Given the description of an element on the screen output the (x, y) to click on. 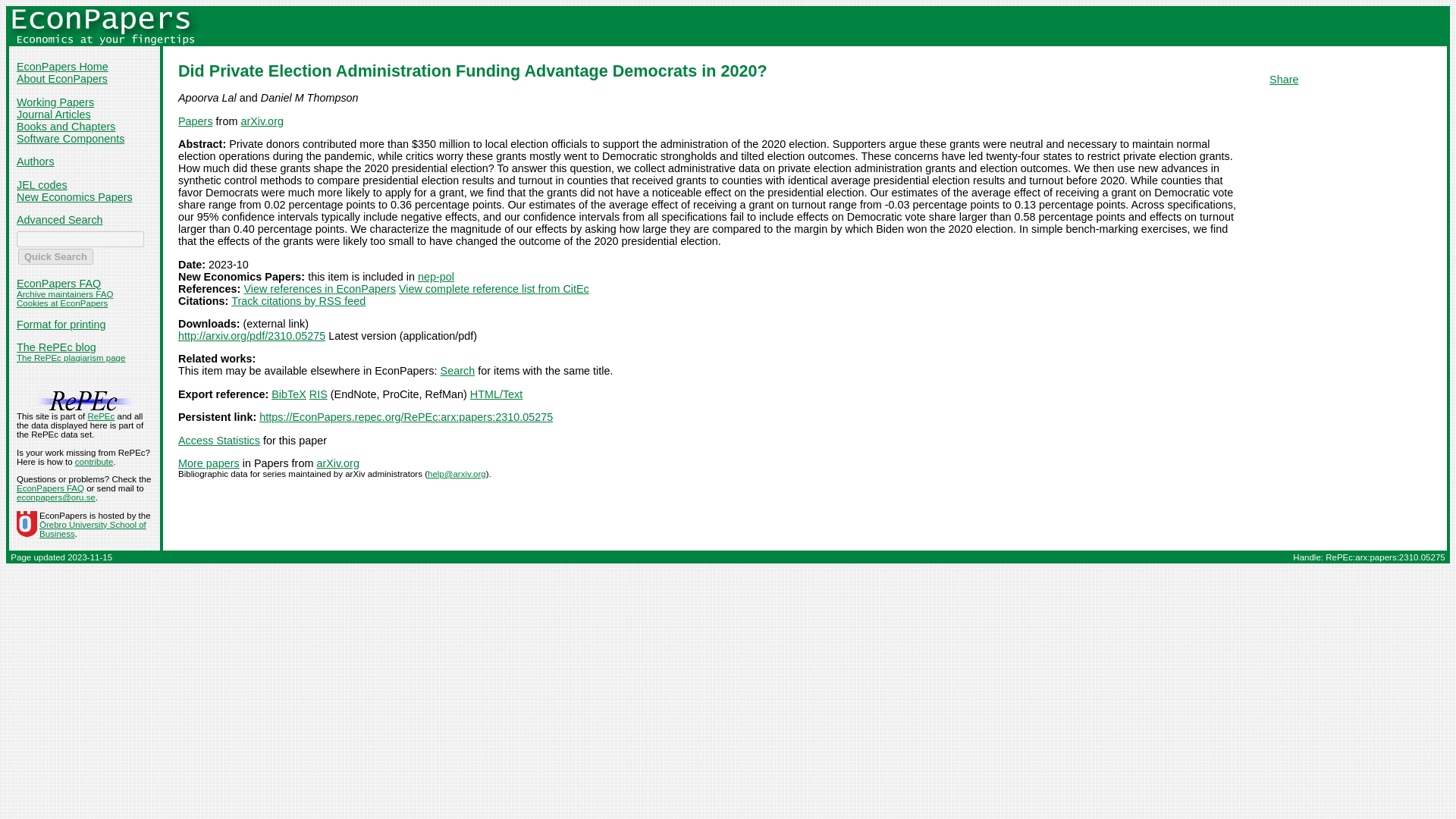
New Economics Papers (74, 196)
View references in EconPapers (319, 288)
EconPapers FAQ (50, 488)
Quick Search (55, 256)
EconPapers Home (61, 66)
About EconPapers (61, 78)
Papers (194, 121)
Archive maintainers FAQ (64, 293)
More papers (208, 463)
RePEc (101, 415)
The RePEc plagiarism page (70, 357)
Journal Articles (53, 114)
arXiv.org (337, 463)
Search (458, 370)
Cookies at EconPapers (61, 302)
